Given the description of an element on the screen output the (x, y) to click on. 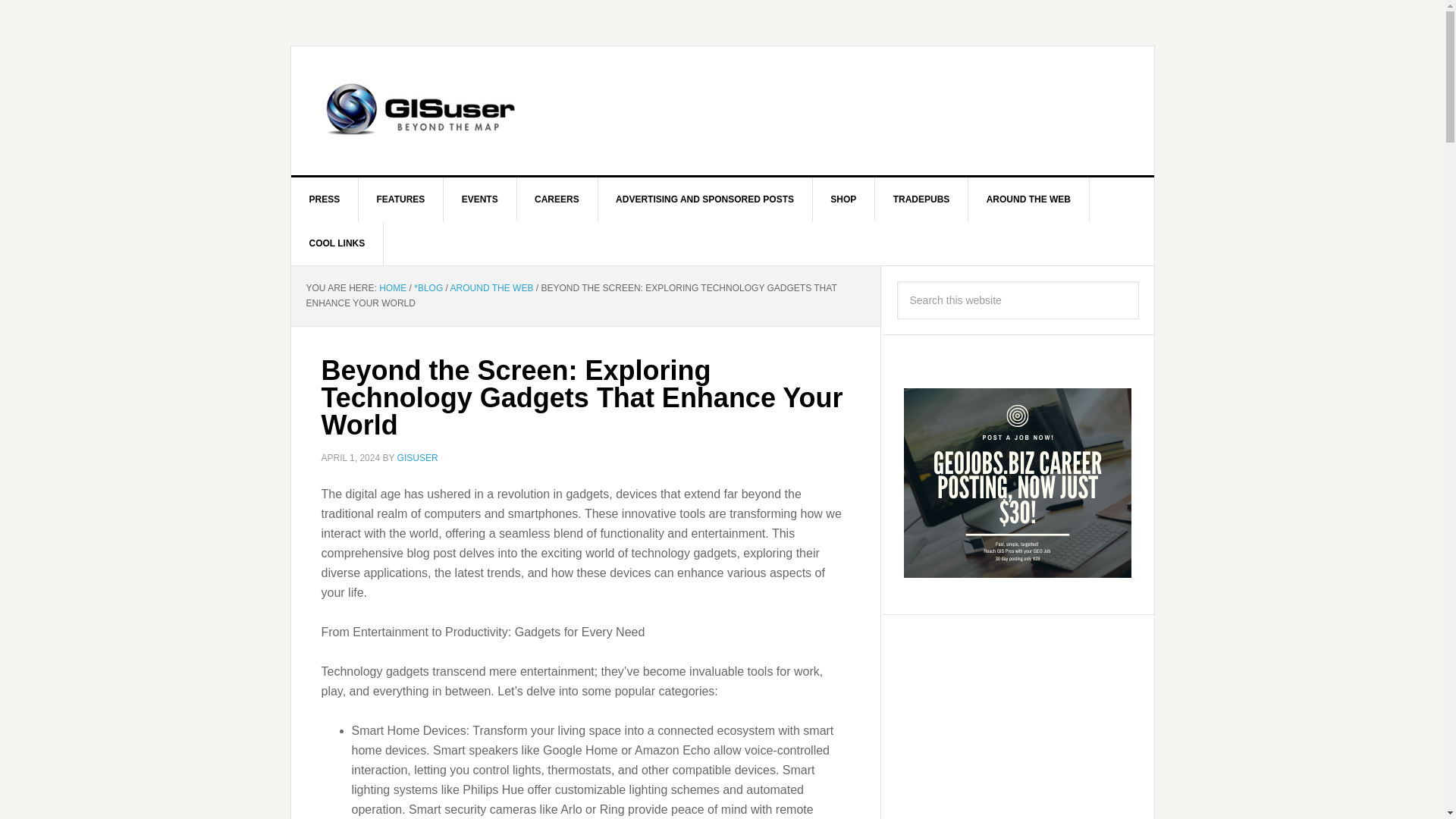
TRADEPUBS (922, 199)
HOME (392, 287)
EVENTS (480, 199)
ADVERTISING AND SPONSORED POSTS (704, 199)
FEATURES (401, 199)
Press (325, 199)
shop (843, 199)
AROUND THE WEB (491, 287)
AROUND THE WEB (1028, 199)
